Given the description of an element on the screen output the (x, y) to click on. 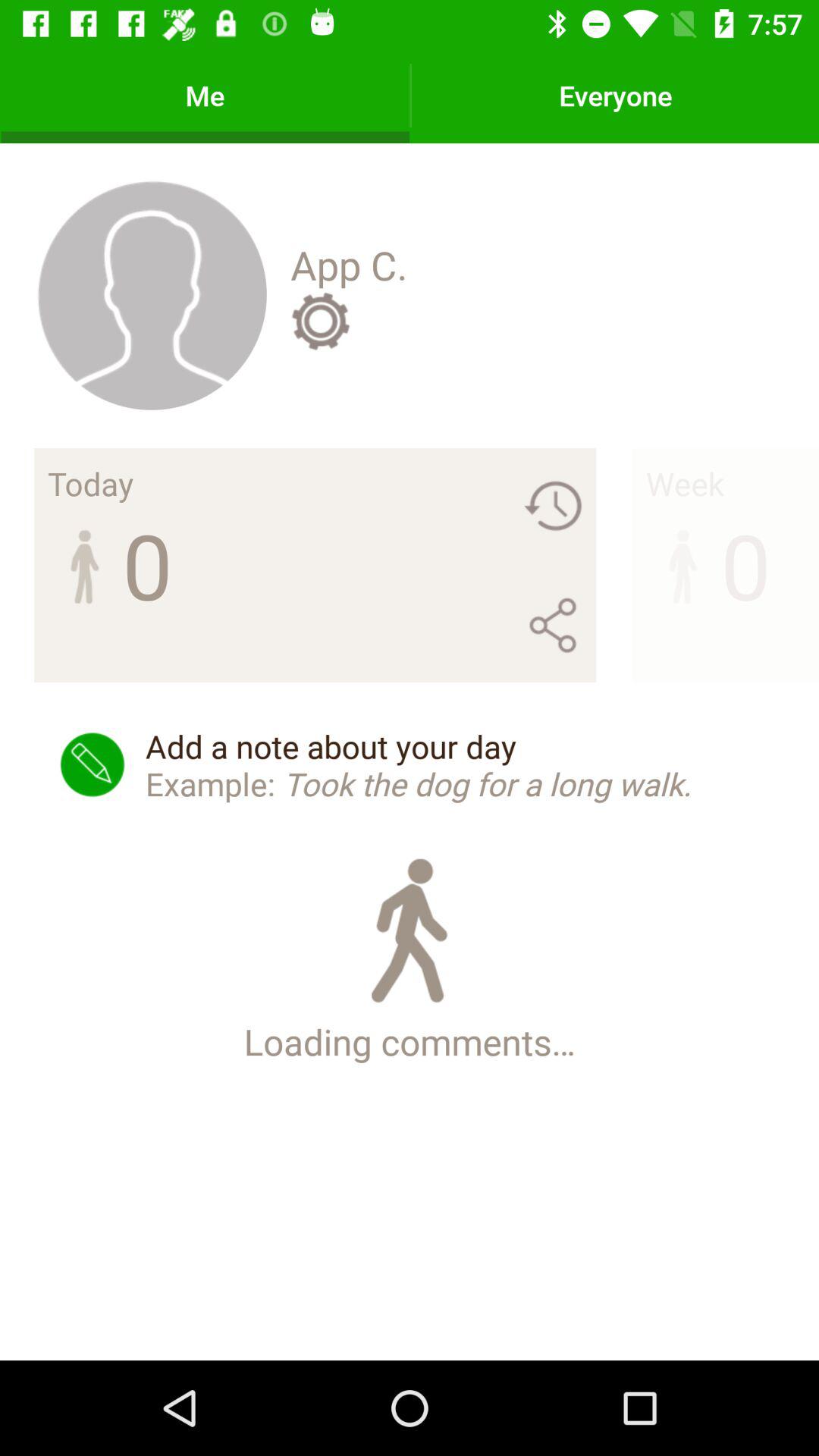
launch the item above 0 icon (685, 483)
